Given the description of an element on the screen output the (x, y) to click on. 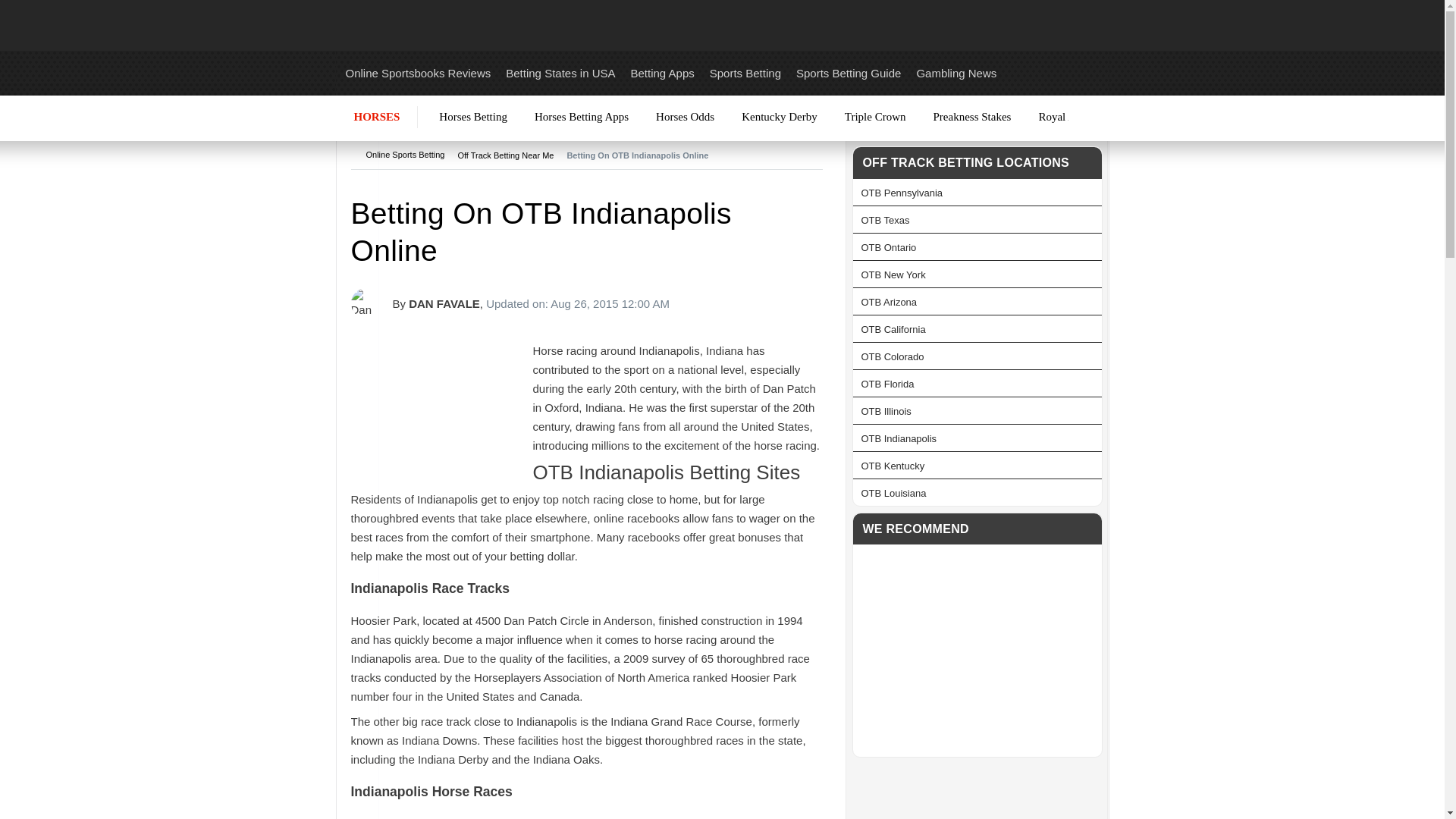
Horses Odds (684, 116)
Online Sportsbooks Reviews (418, 73)
Preakness Stakes (971, 116)
Royal Ascot (1066, 116)
Horses Betting Apps (581, 116)
Betting States in USA (560, 73)
Triple Crown (875, 116)
Betting Apps (662, 73)
Sports Betting (745, 73)
Horses Betting (472, 116)
Kentucky Derby (779, 116)
